Given the description of an element on the screen output the (x, y) to click on. 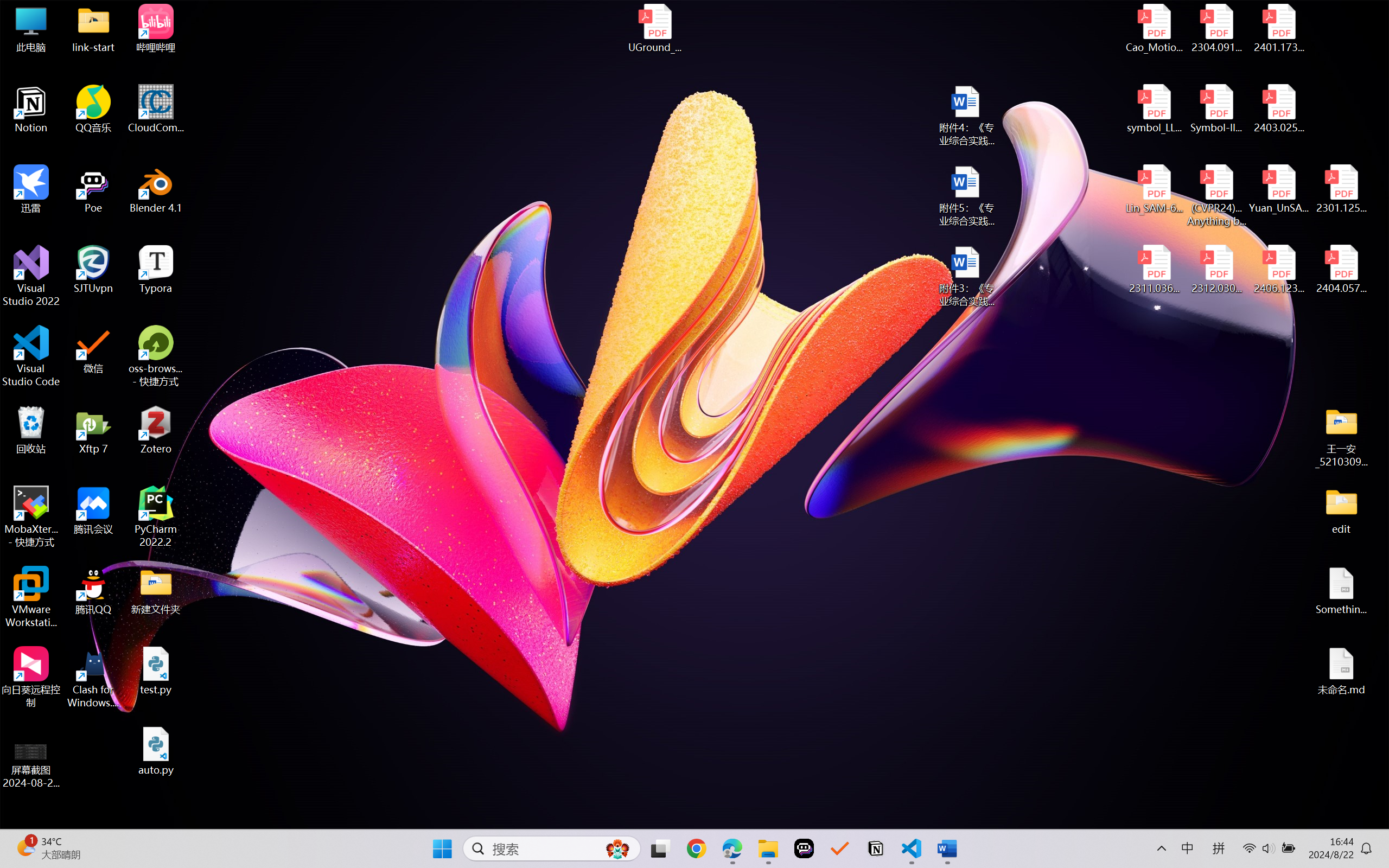
2401.17399v1.pdf (1278, 28)
2403.02502v1.pdf (1278, 109)
edit (1340, 510)
Typora (156, 269)
Blender 4.1 (156, 189)
